Given the description of an element on the screen output the (x, y) to click on. 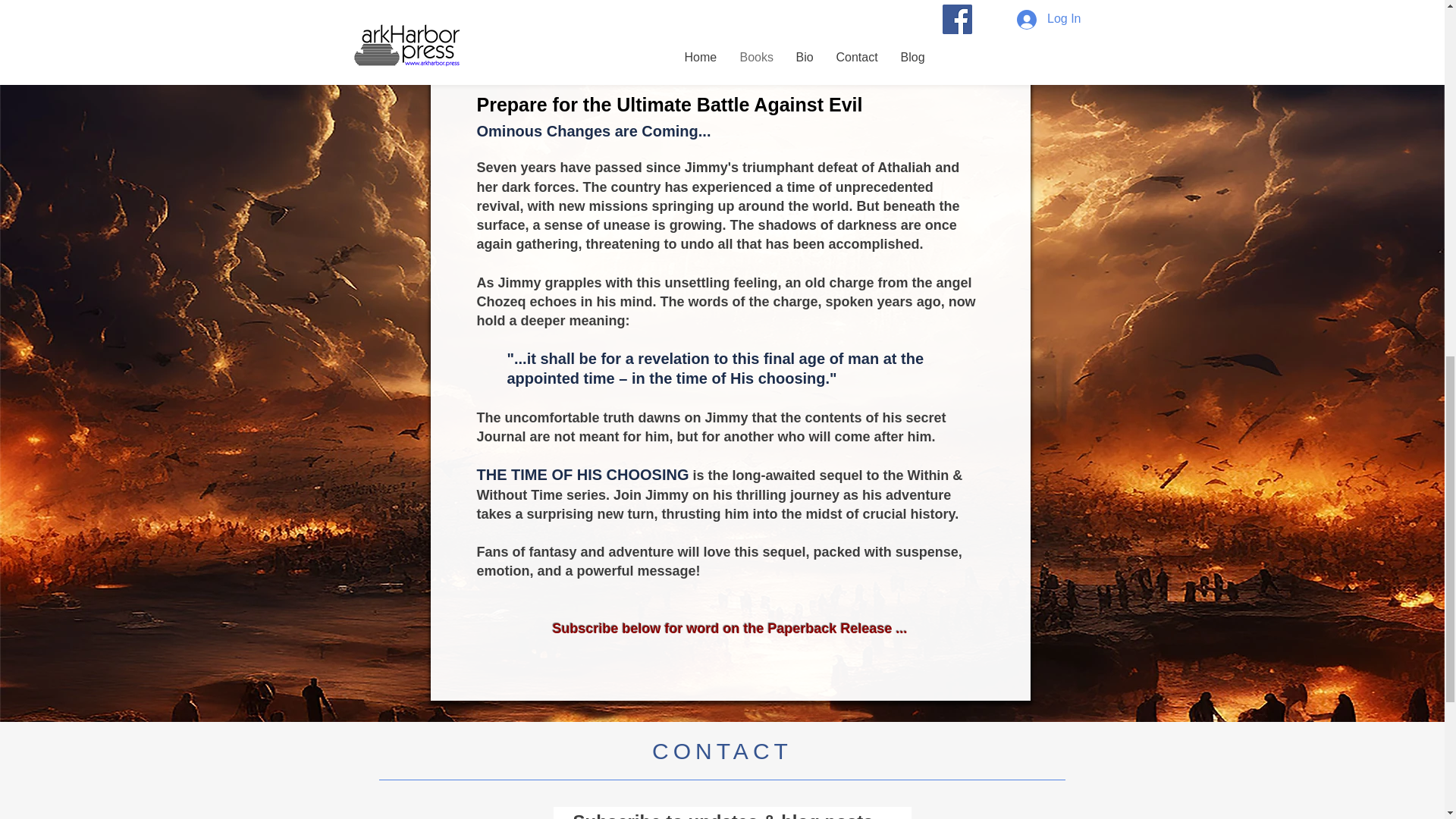
Learn more... (734, 18)
Read a Sample (722, 56)
